Given the description of an element on the screen output the (x, y) to click on. 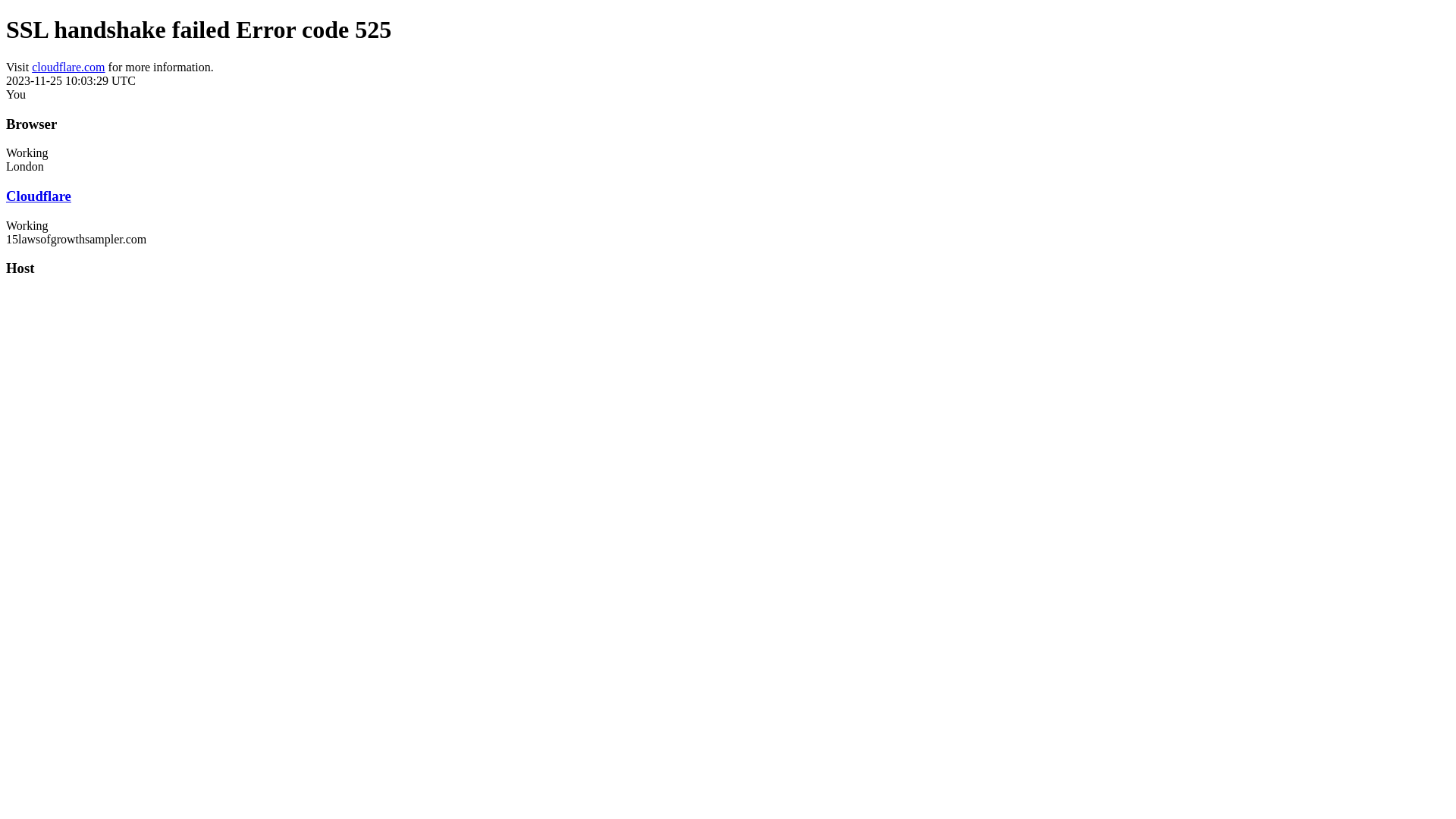
Cloudflare Element type: text (38, 195)
cloudflare.com Element type: text (67, 66)
